Given the description of an element on the screen output the (x, y) to click on. 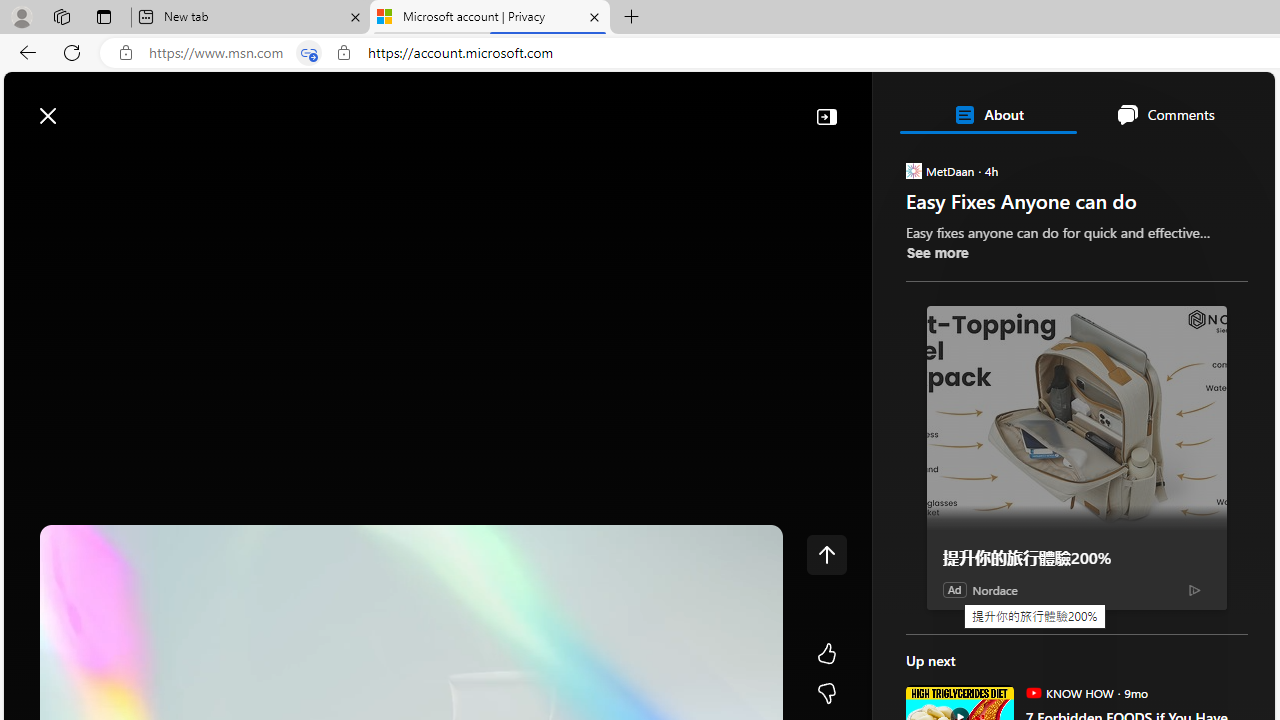
ABC News (974, 557)
Like (826, 653)
Open settings (1230, 105)
